Given the description of an element on the screen output the (x, y) to click on. 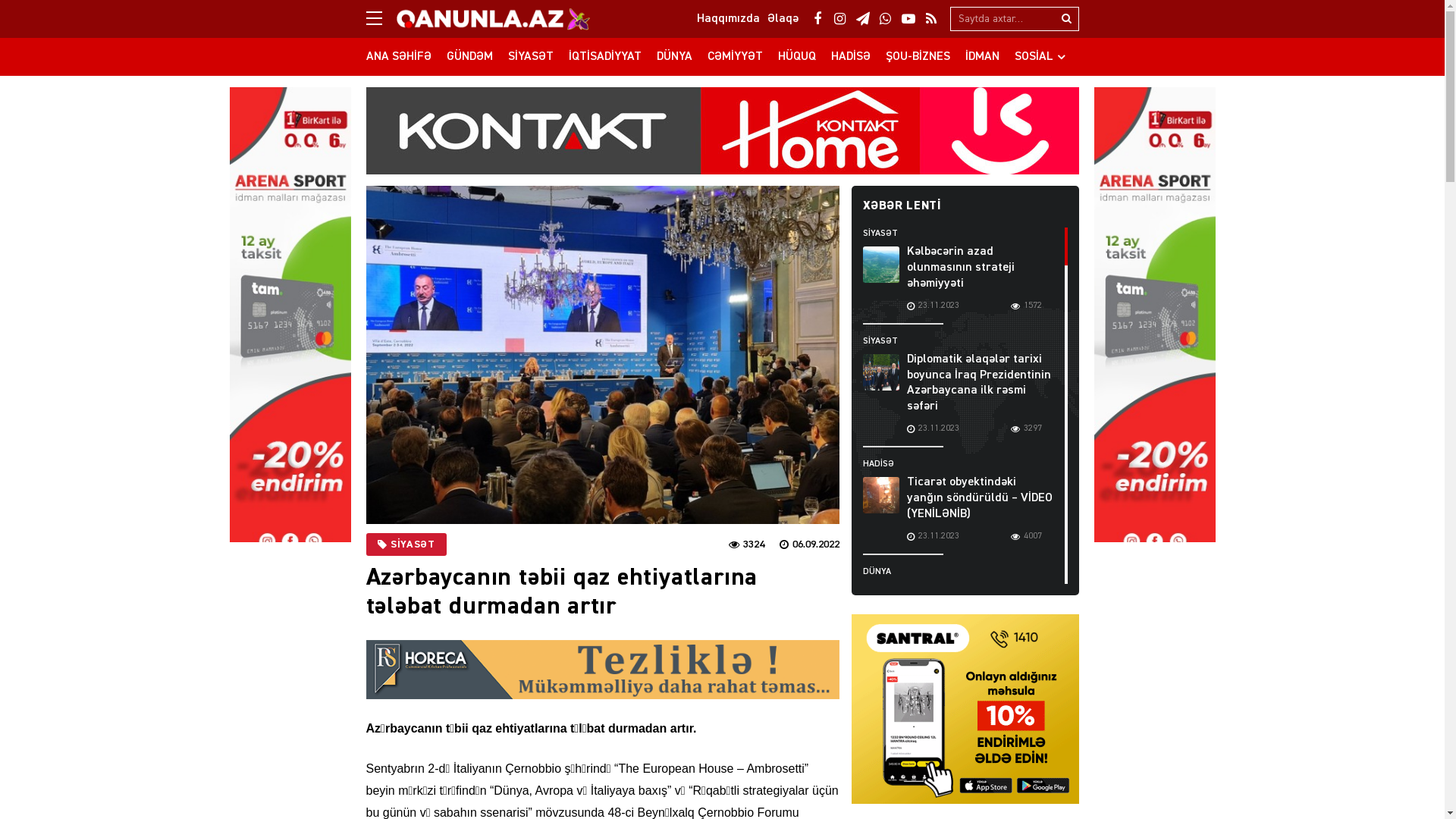
!Reklam Element type: hover (1153, 322)
Axtar Element type: hover (1066, 18)
SOSIAL Element type: text (1039, 56)
!Reklam Element type: hover (289, 322)
!Reklam Element type: hover (601, 669)
